Given the description of an element on the screen output the (x, y) to click on. 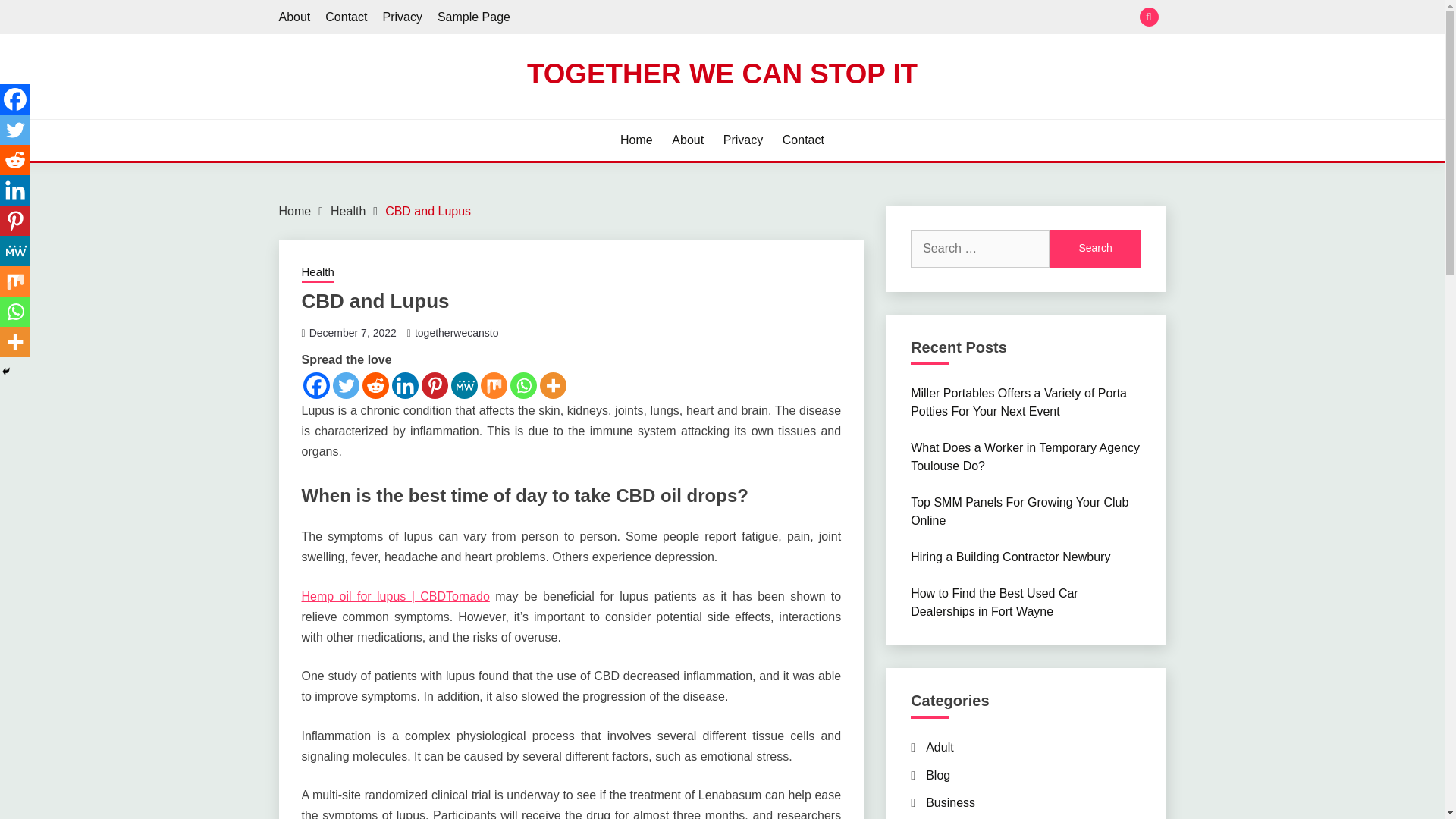
Search (1095, 248)
Privacy (742, 140)
About (687, 140)
Privacy (401, 16)
Search (832, 18)
Twitter (344, 385)
Contact (345, 16)
togetherwecansto (456, 332)
Home (295, 210)
Mix (493, 385)
